Given the description of an element on the screen output the (x, y) to click on. 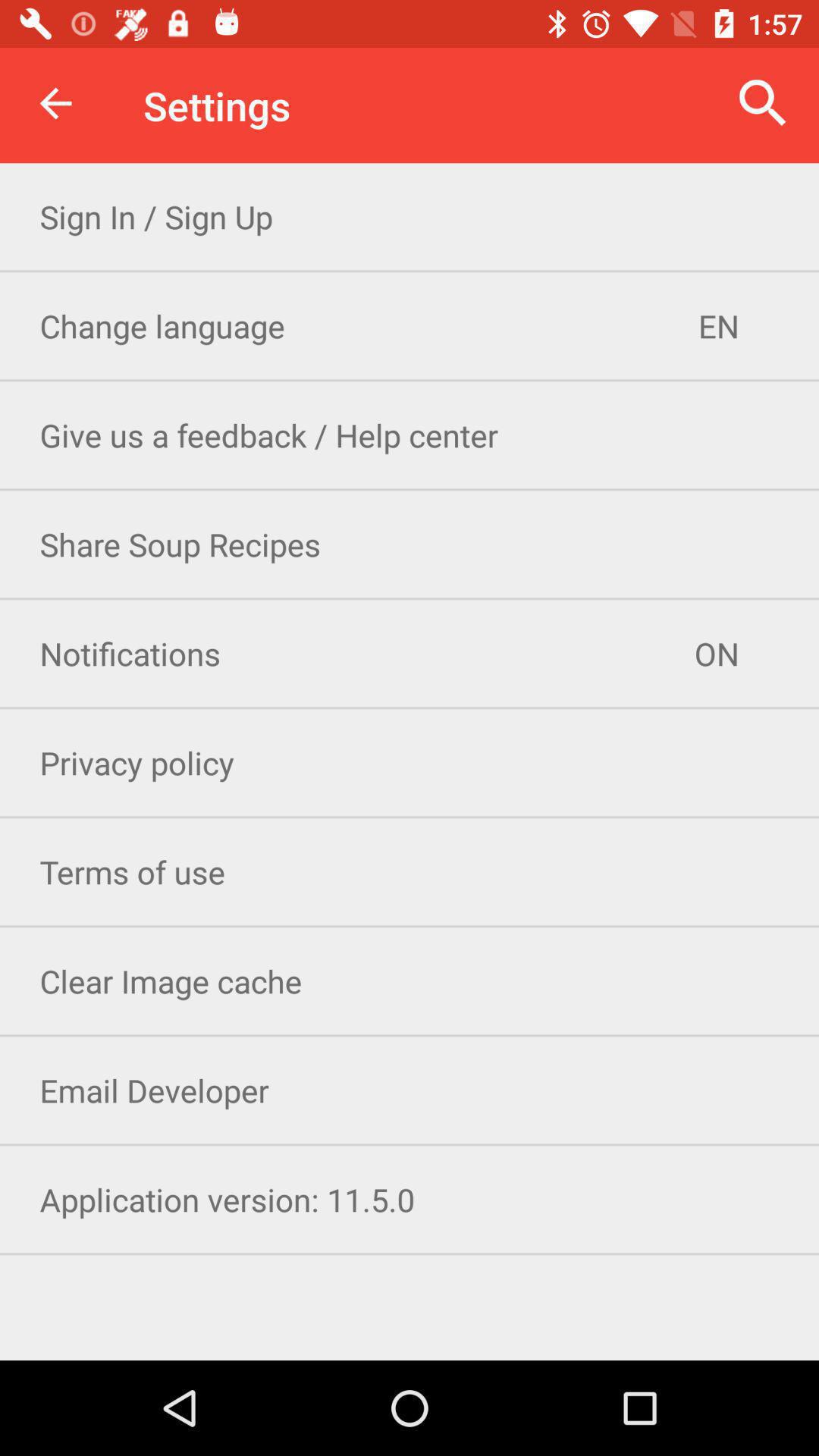
turn off the icon to the right of settings (763, 103)
